Given the description of an element on the screen output the (x, y) to click on. 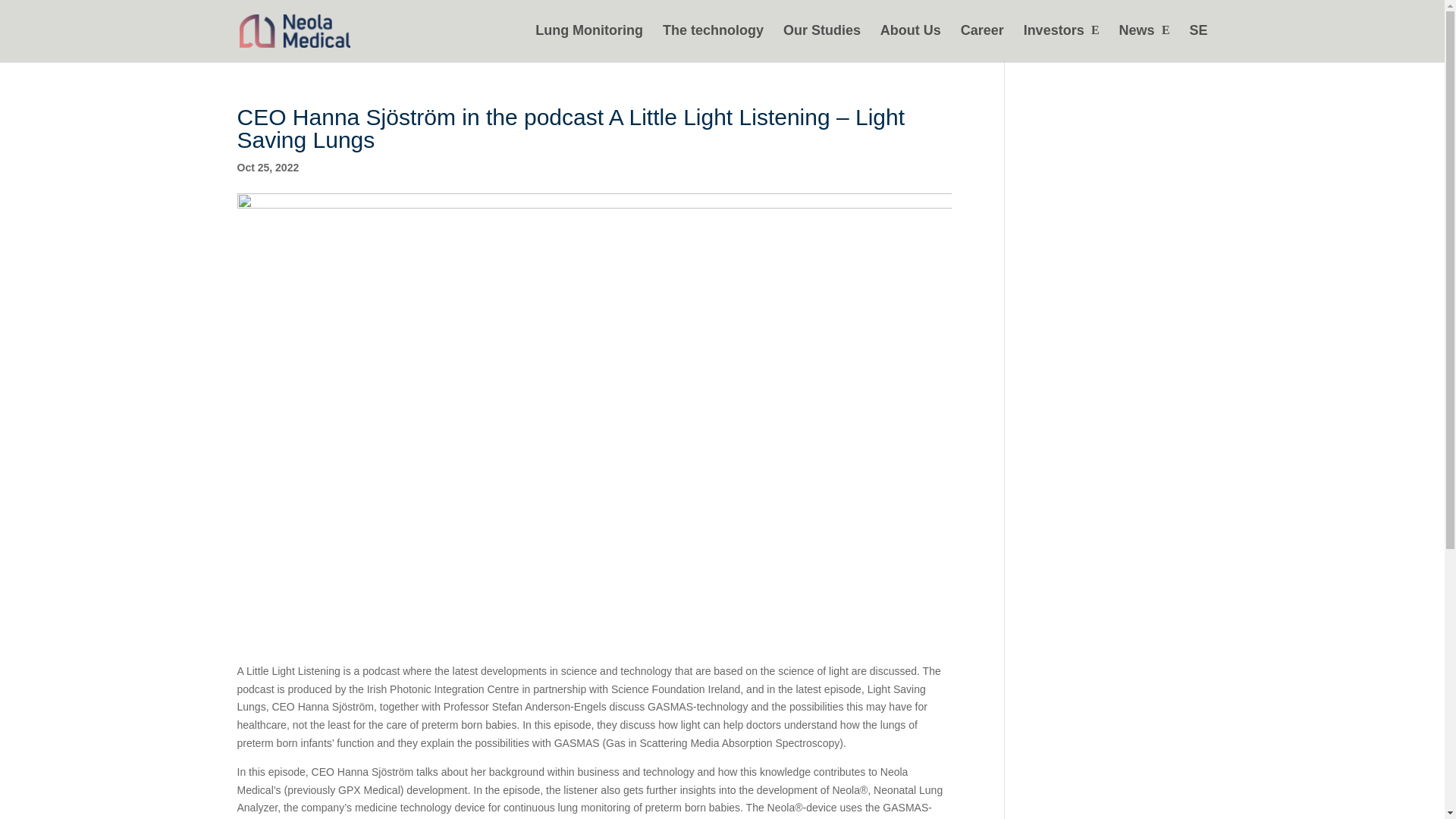
About Us (910, 42)
Career (982, 42)
The technology (712, 42)
Lung Monitoring (589, 42)
News (1144, 42)
Our Studies (821, 42)
Investors (1061, 42)
